Given the description of an element on the screen output the (x, y) to click on. 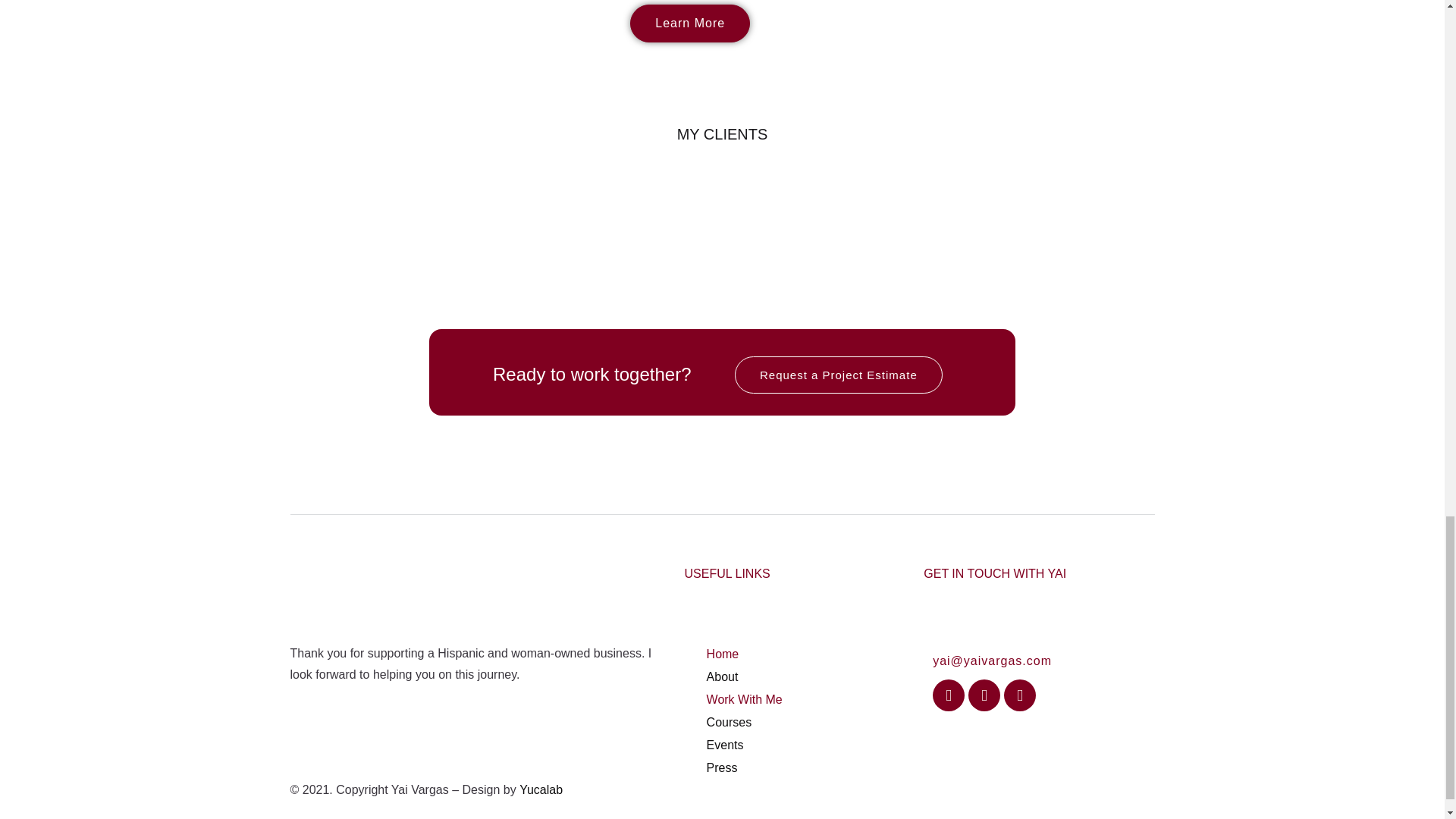
Learn More (689, 23)
About (751, 676)
Request a Project Estimate (838, 374)
Home (751, 653)
